Given the description of an element on the screen output the (x, y) to click on. 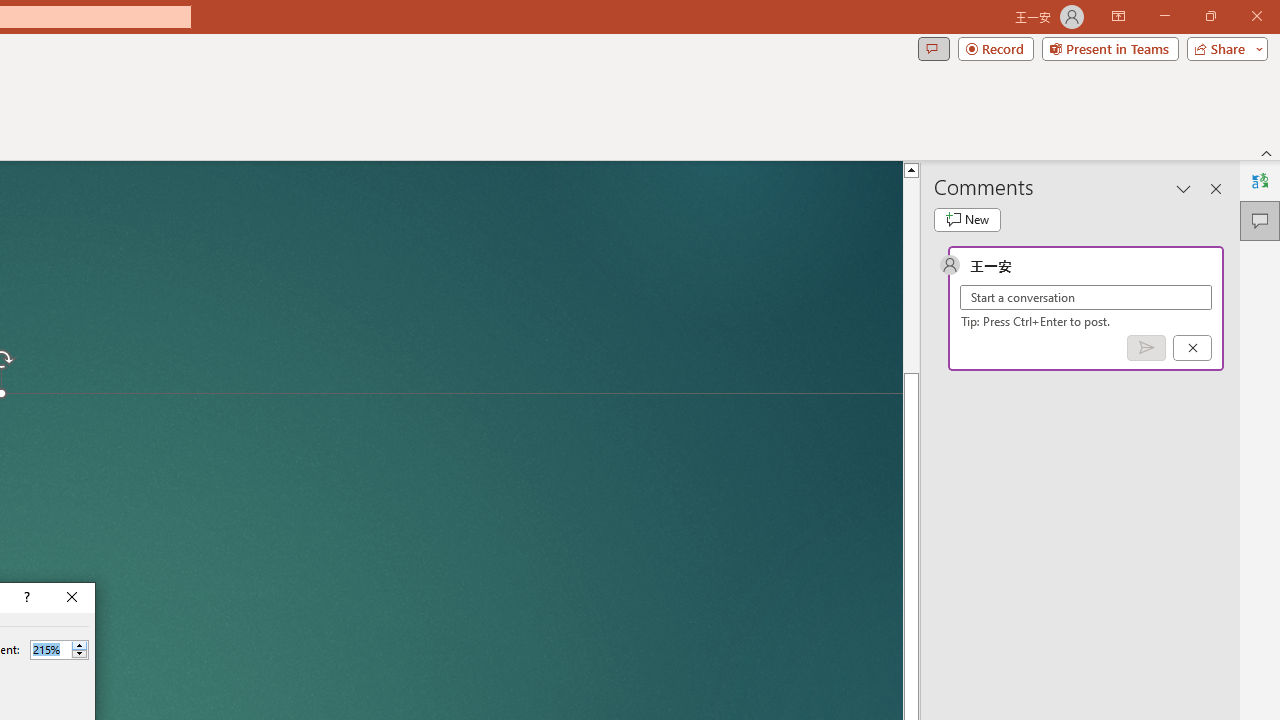
Percent (59, 650)
Cancel (1192, 347)
New comment (967, 219)
Page up (911, 274)
